Given the description of an element on the screen output the (x, y) to click on. 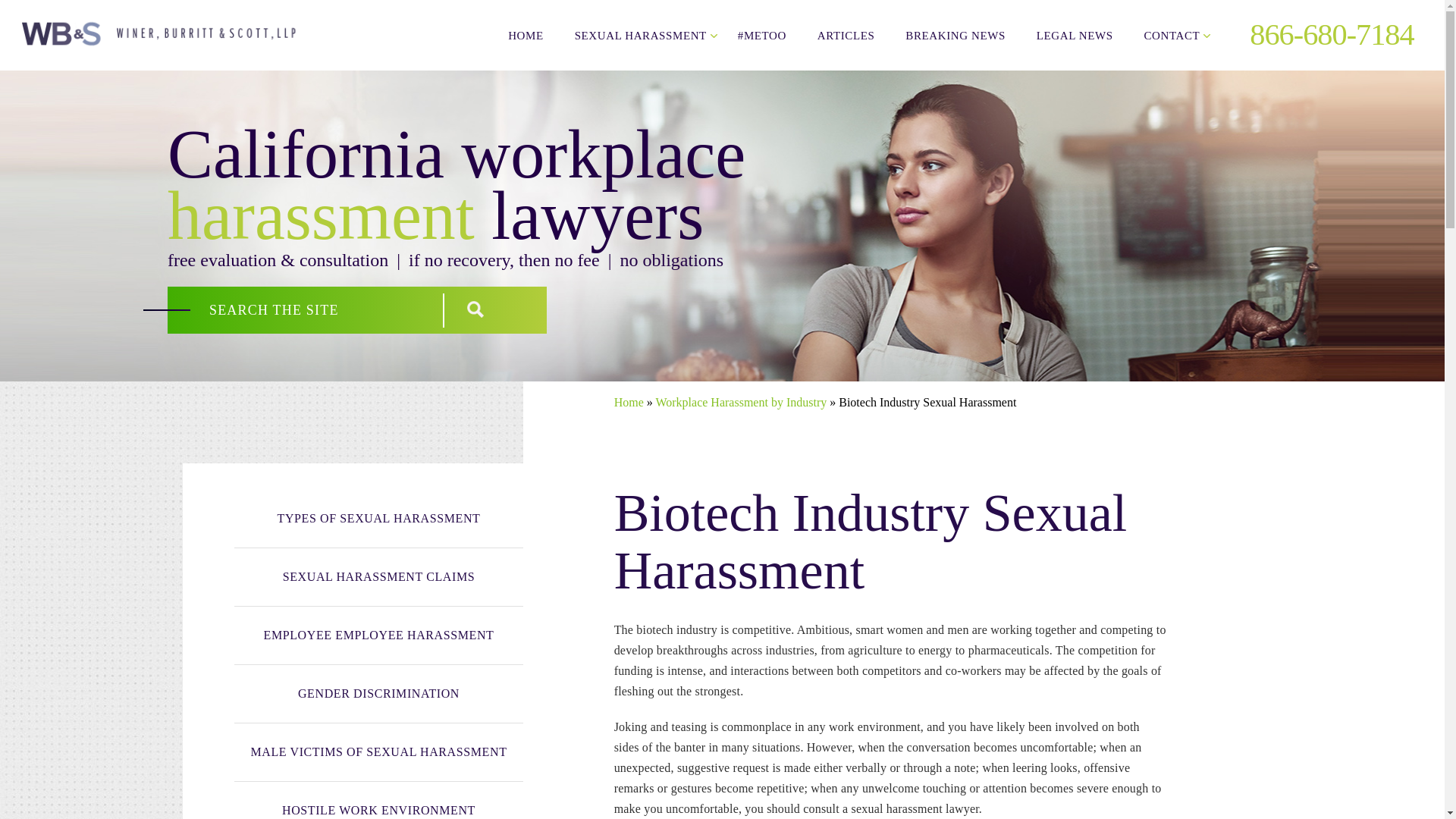
BREAKING NEWS (955, 34)
LEGAL NEWS (1074, 34)
EMPLOYEE EMPLOYEE HARASSMENT (378, 635)
SEXUAL HARASSMENT CLAIMS (378, 576)
Workplace Harassment by Industry (741, 401)
Home (628, 401)
HOSTILE WORK ENVIRONMENT (378, 800)
GENDER DISCRIMINATION (378, 694)
TYPES OF SEXUAL HARASSMENT (378, 518)
MALE VICTIMS OF SEXUAL HARASSMENT (378, 752)
SEXUAL HARASSMENT (640, 34)
866-680-7184 (1320, 34)
Search for: (310, 309)
